Given the description of an element on the screen output the (x, y) to click on. 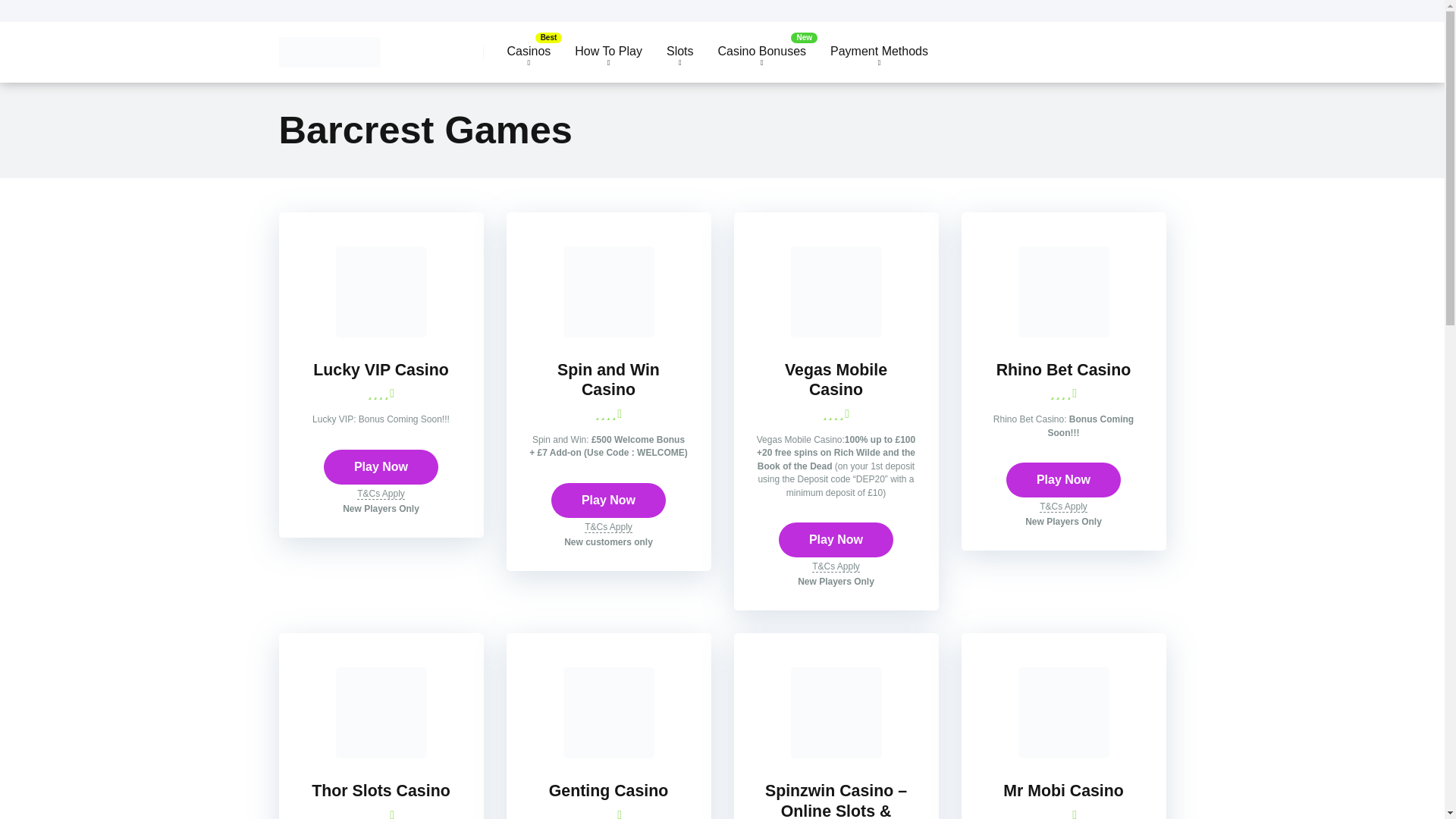
Play Now (608, 500)
Rhino Bet Casino (1062, 332)
Play Now (1063, 479)
Lucky VIP Casino (380, 370)
Payment Methods (879, 52)
Vegas Mobile Casino (835, 332)
How To Play (607, 52)
Spin and Win Casino (608, 380)
Play Now (380, 466)
Lucky VIP Casino (380, 332)
Slots (679, 52)
cogamblers (329, 46)
Lucky VIP Casino (380, 370)
Play Now (380, 466)
Vegas Mobile Casino (835, 380)
